Given the description of an element on the screen output the (x, y) to click on. 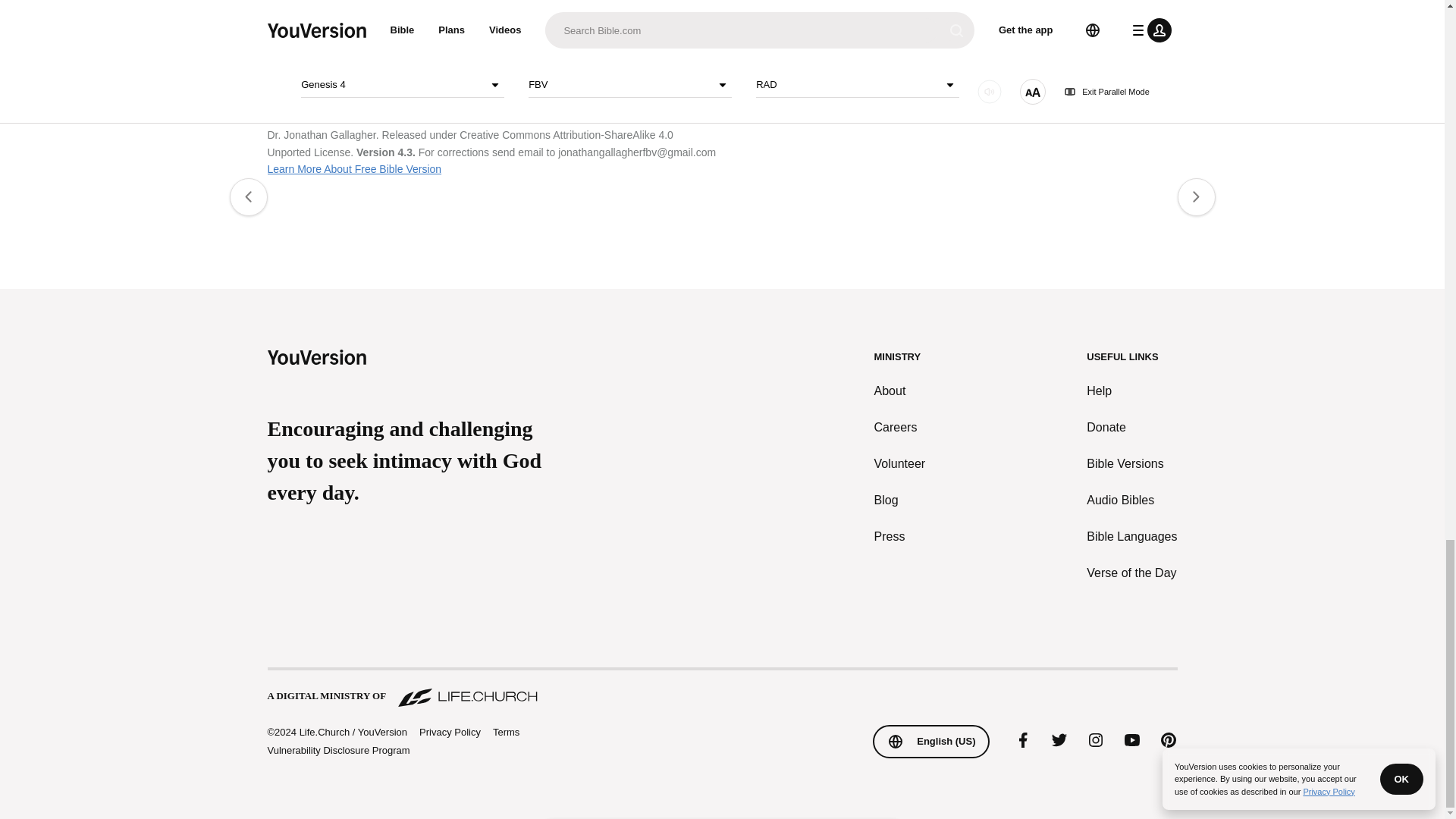
Terms (506, 731)
Volunteer (900, 464)
A DIGITAL MINISTRY OF (721, 688)
Help (1131, 391)
Careers (900, 427)
Bible Languages (1131, 536)
Learn More About Free Bible Version (353, 168)
Donate (1131, 427)
Bible Versions (1131, 464)
Press (900, 536)
About (900, 391)
Verse of the Day (1131, 573)
Privacy Policy (449, 732)
Audio Bibles (1131, 500)
Vulnerability Disclosure Program (337, 749)
